Given the description of an element on the screen output the (x, y) to click on. 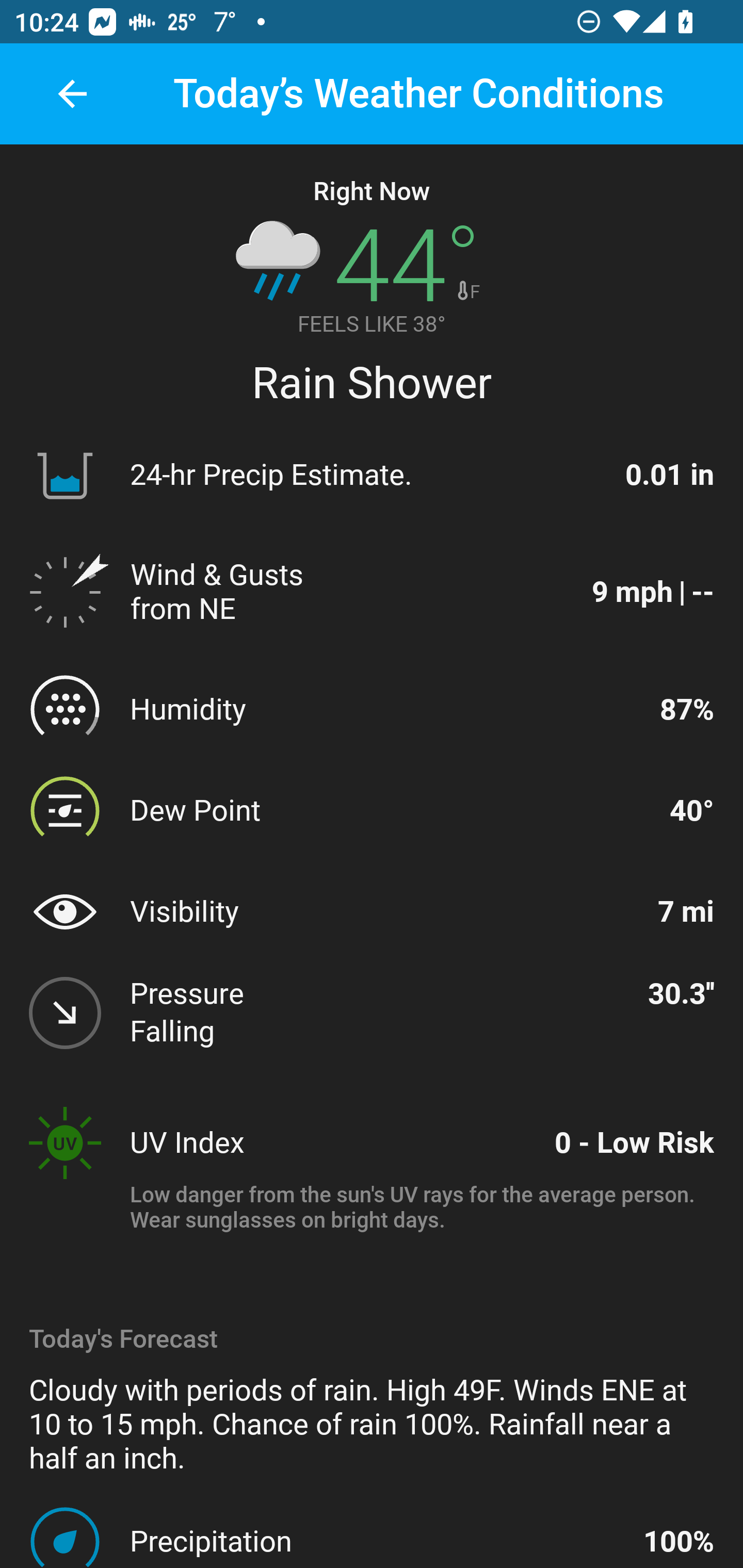
back (71, 93)
Precipitation (377, 1541)
100% (678, 1541)
